Given the description of an element on the screen output the (x, y) to click on. 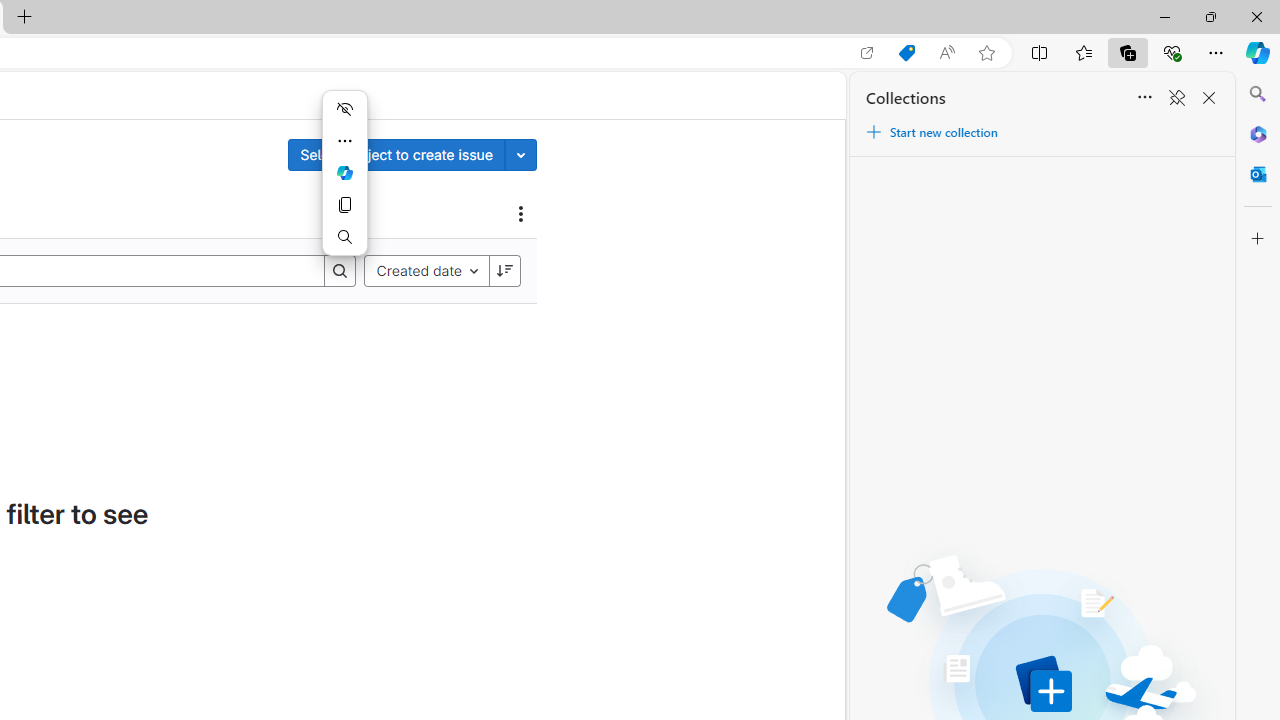
Ask Copilot (344, 172)
Select project to create issue (396, 154)
Unpin Collections (1176, 98)
Sort (1144, 98)
Hide menu (344, 108)
Open in app (867, 53)
